Given the description of an element on the screen output the (x, y) to click on. 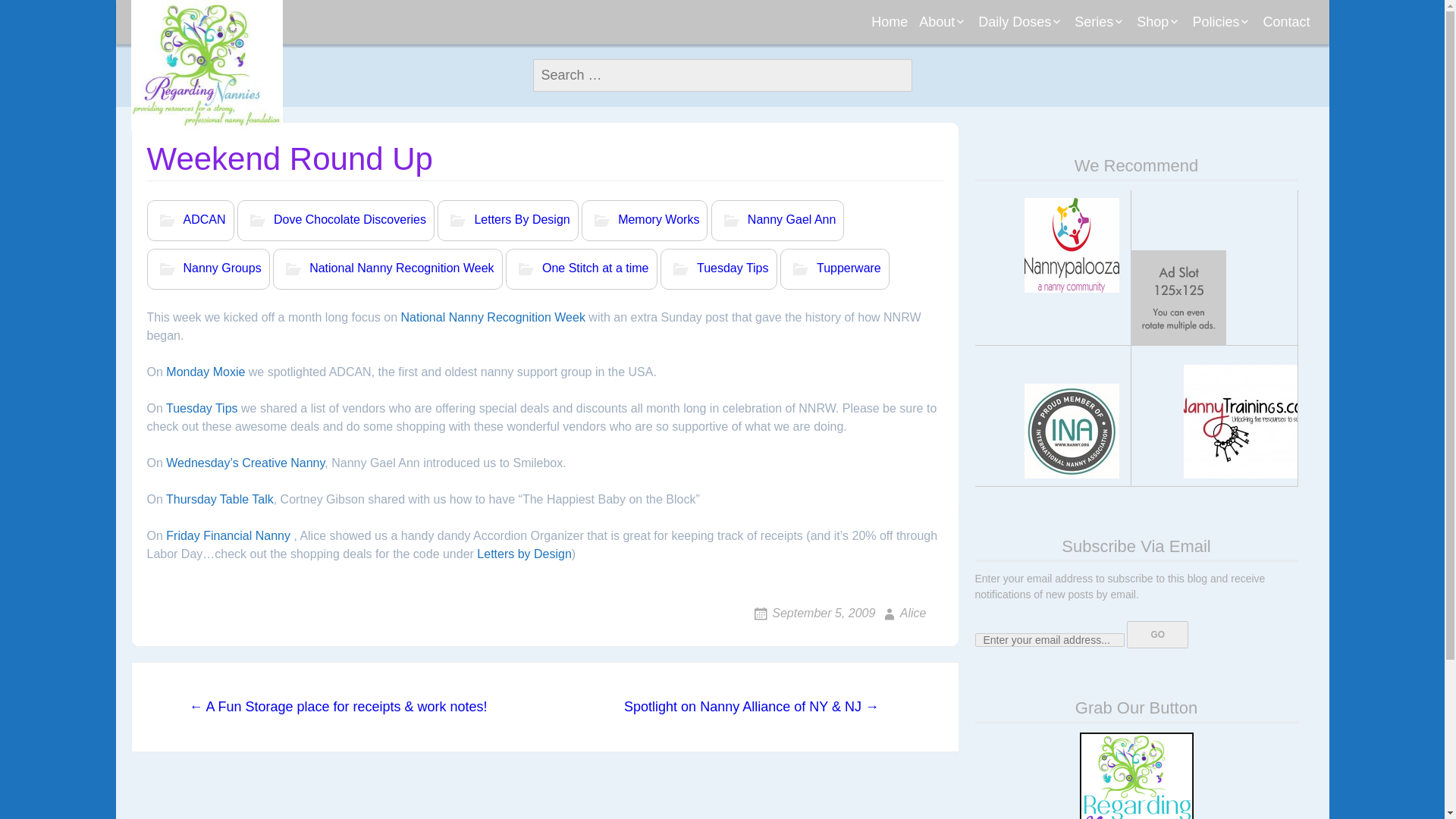
About (943, 22)
Disclosure (1263, 54)
Series (1099, 22)
Monday Moxie (1049, 54)
Regarding Nannies (206, 65)
Anatomy of Work Agreement (1146, 61)
Shop (1158, 22)
Policies (1221, 22)
Daily Doses (1020, 22)
About Regarding Nannies (991, 61)
Home (889, 22)
Amazon (1208, 54)
Contact (1286, 22)
September 5, 2009 (813, 612)
Go (1157, 634)
